Given the description of an element on the screen output the (x, y) to click on. 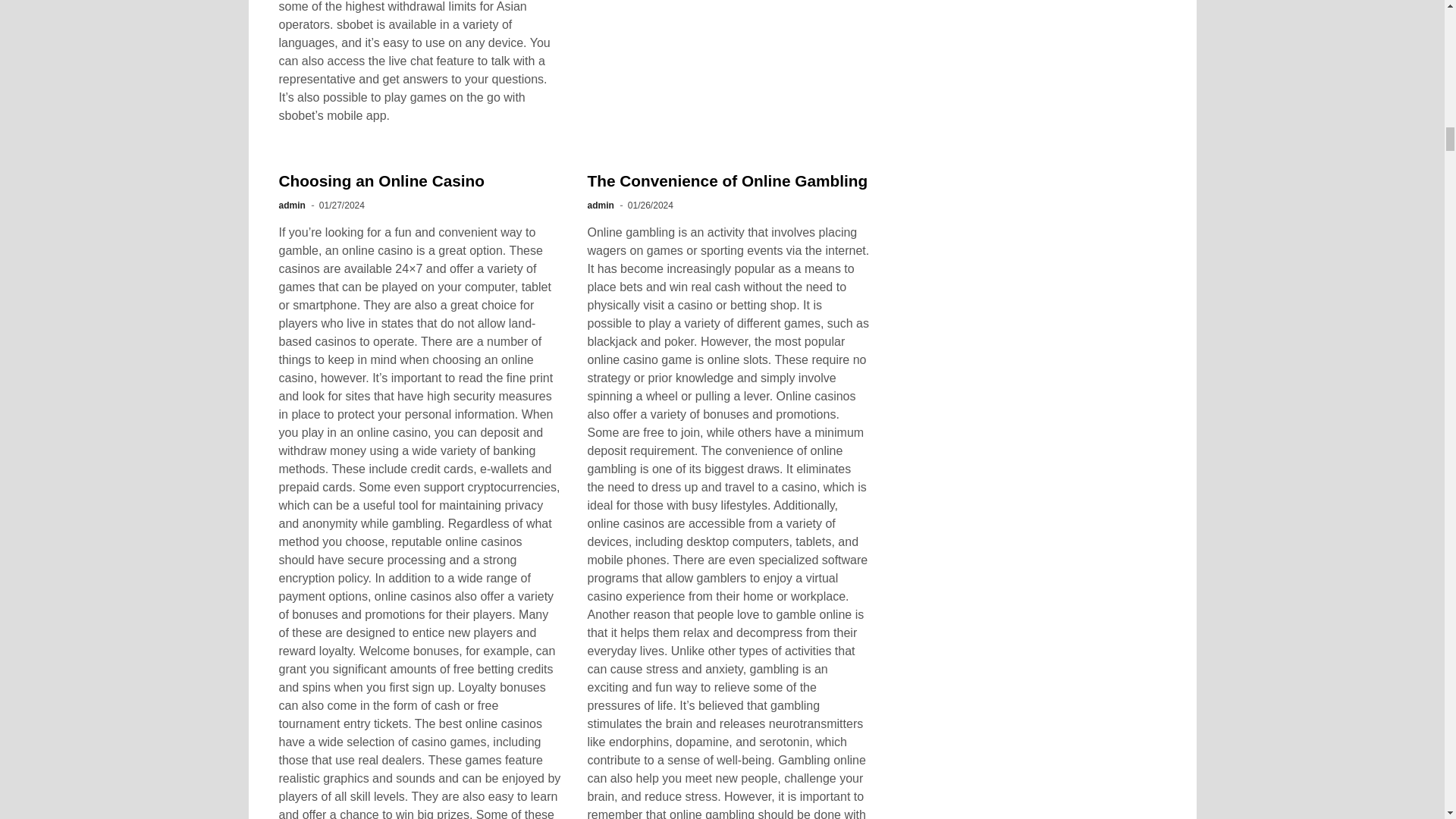
Choosing an Online Casino (381, 180)
The Convenience of Online Gambling (726, 180)
admin (599, 204)
admin (292, 204)
